Given the description of an element on the screen output the (x, y) to click on. 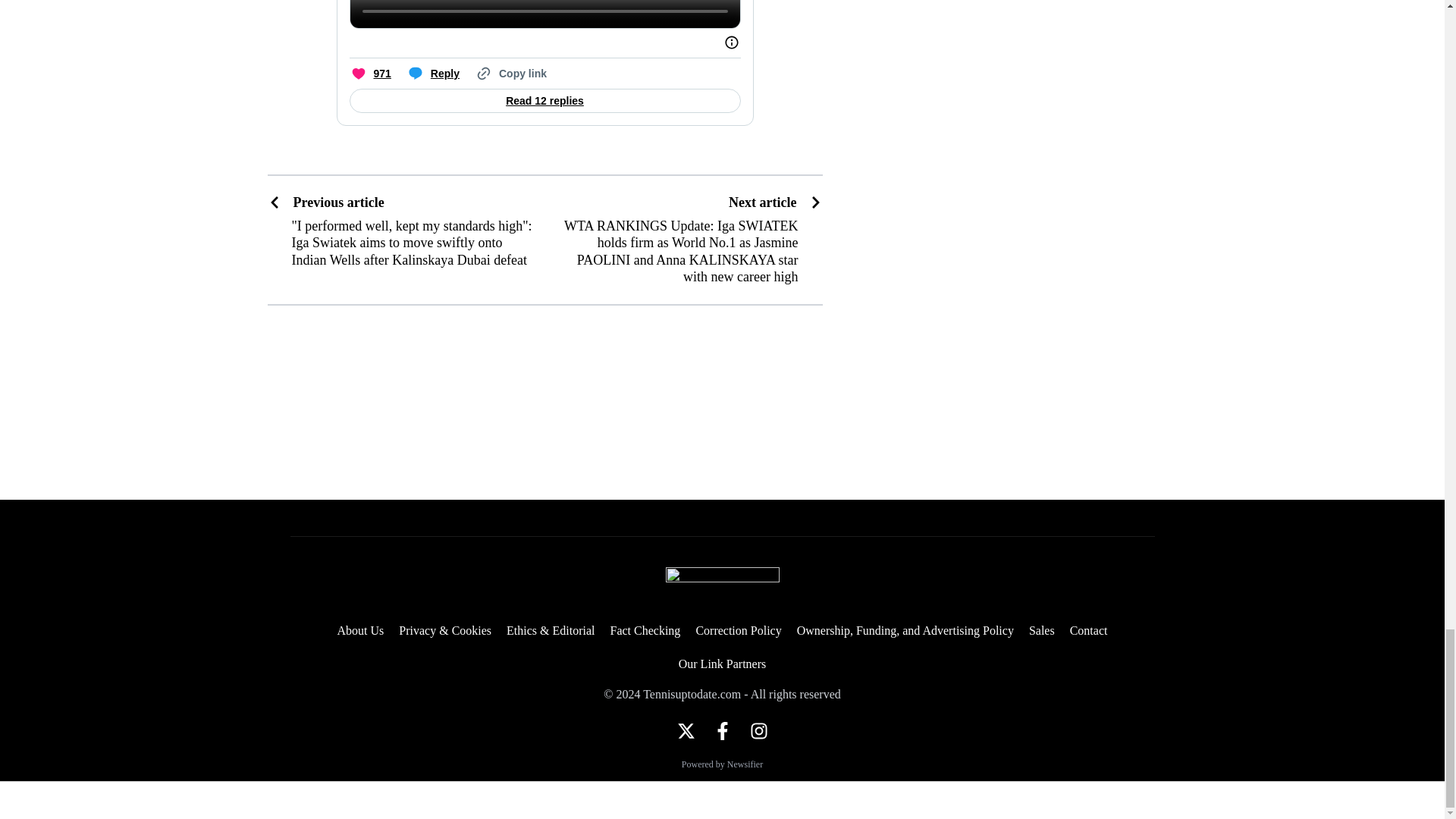
971 (369, 73)
Read 12 replies (544, 100)
Previous article (400, 202)
Copy link (510, 73)
website logo (721, 585)
twitter account (685, 730)
Reply (433, 73)
Next article (775, 202)
